Given the description of an element on the screen output the (x, y) to click on. 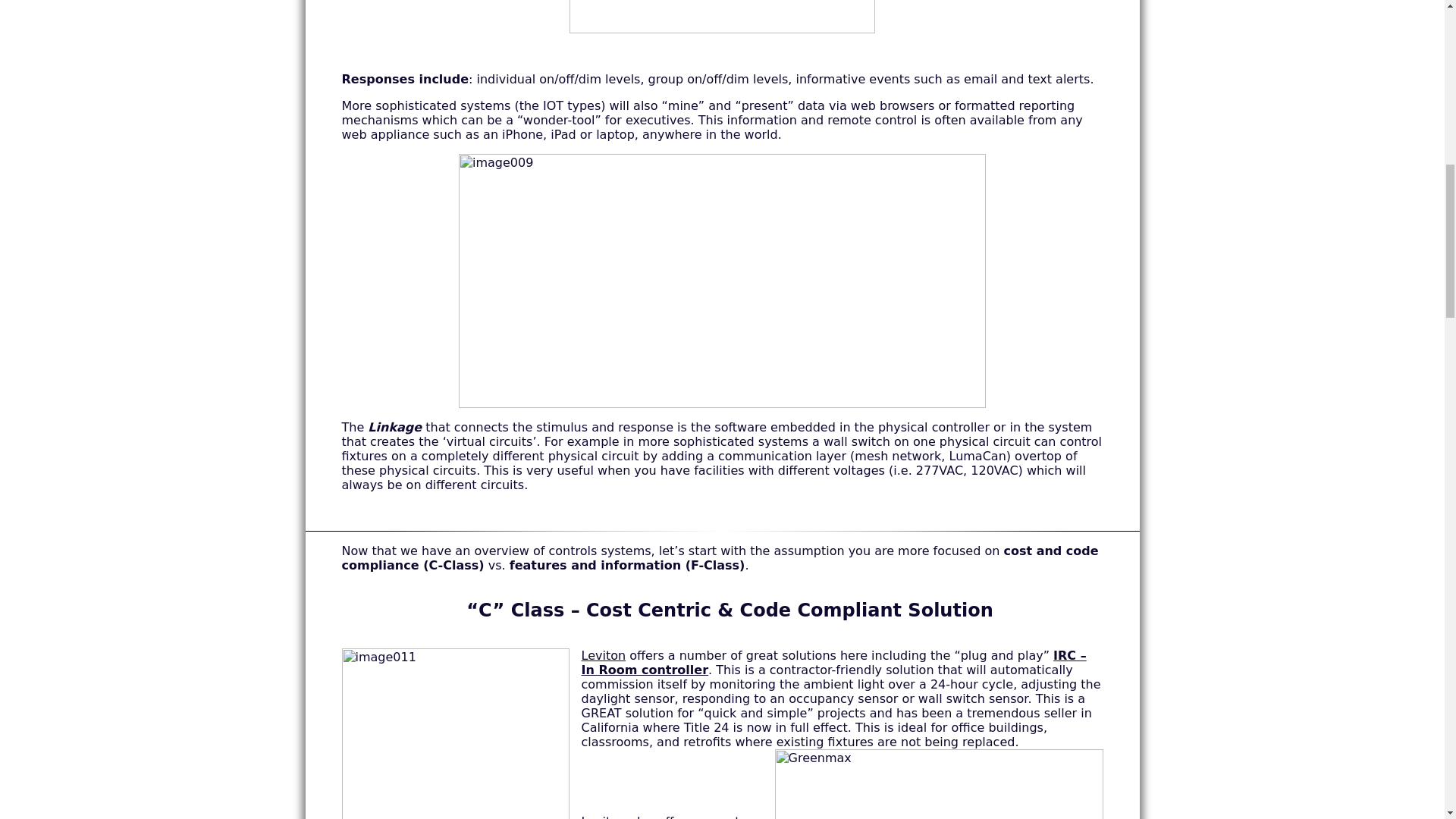
Leviton (603, 655)
